Given the description of an element on the screen output the (x, y) to click on. 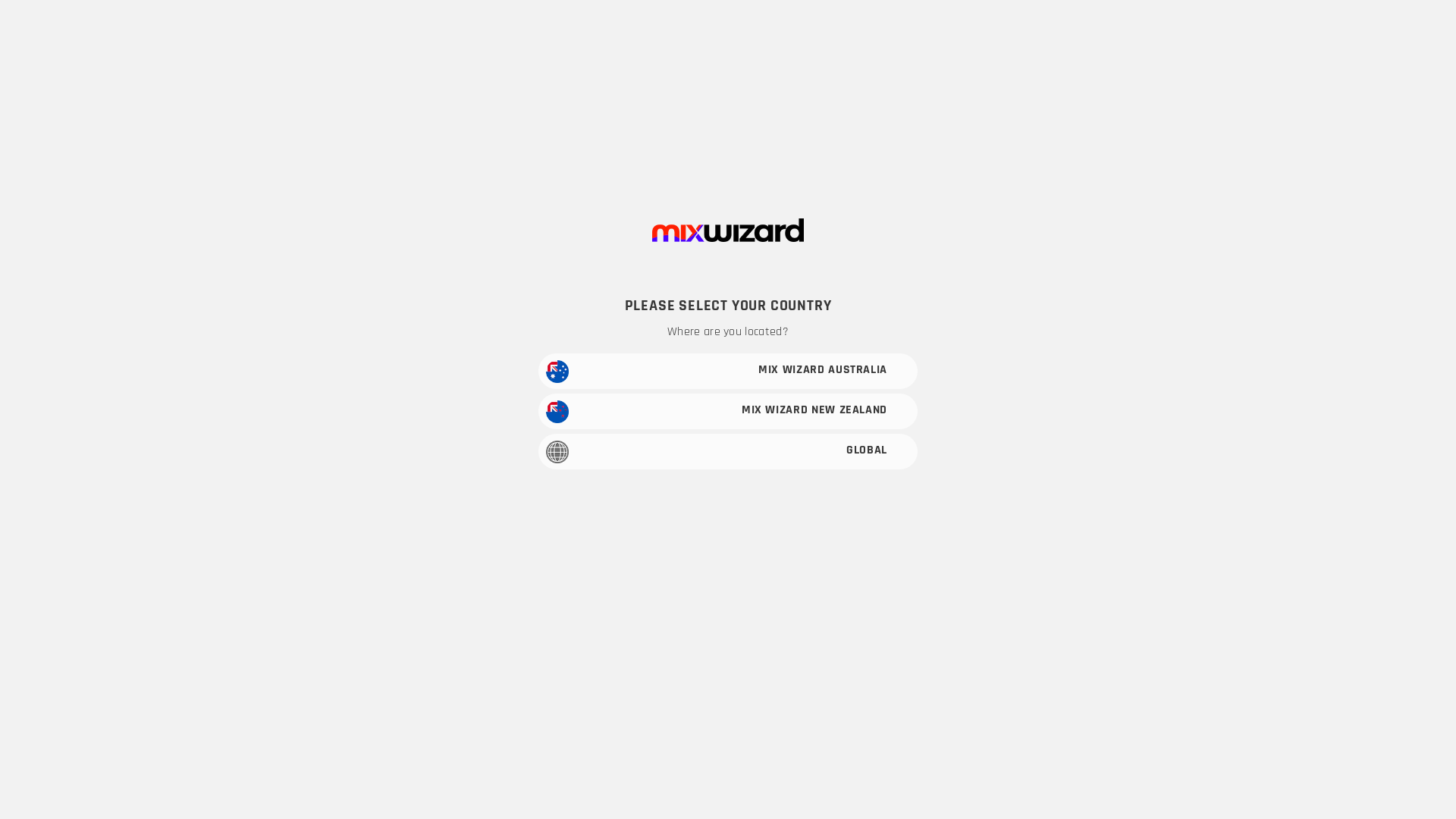
ENTER Element type: text (706, 482)
Exit Element type: text (768, 482)
MIX WIZARD AUSTRALIA Element type: text (727, 371)
Expert Advice & Support Element type: text (608, 510)
MIX WIZARD NEW ZEALAND Element type: text (727, 411)
Express Shipping 1-2 Days Element type: text (1130, 510)
Free Shipping over $160 Element type: text (348, 510)
MENU Element type: text (209, 30)
Safe & Secure Checkout Element type: text (869, 510)
SHOP NOW Element type: text (722, 326)
GLOBAL Element type: text (727, 451)
